Given the description of an element on the screen output the (x, y) to click on. 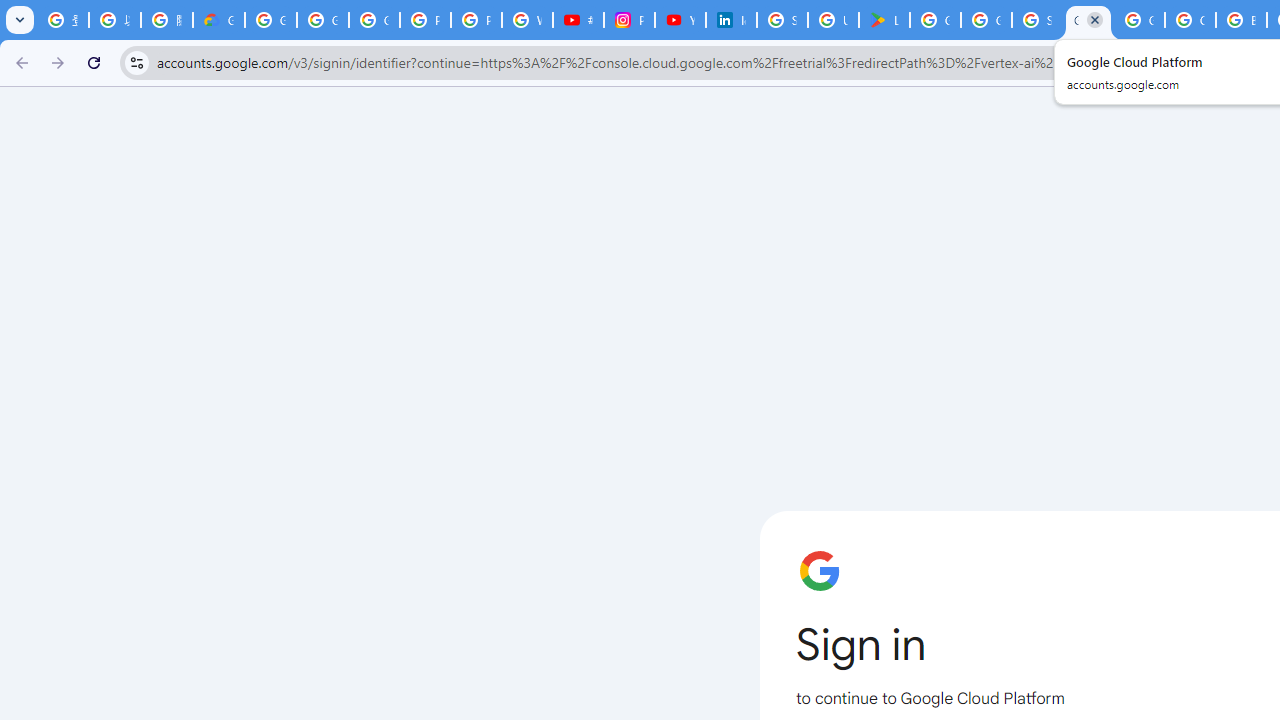
Privacy Help Center - Policies Help (475, 20)
Last Shelter: Survival - Apps on Google Play (884, 20)
Sign in - Google Accounts (1037, 20)
